Given the description of an element on the screen output the (x, y) to click on. 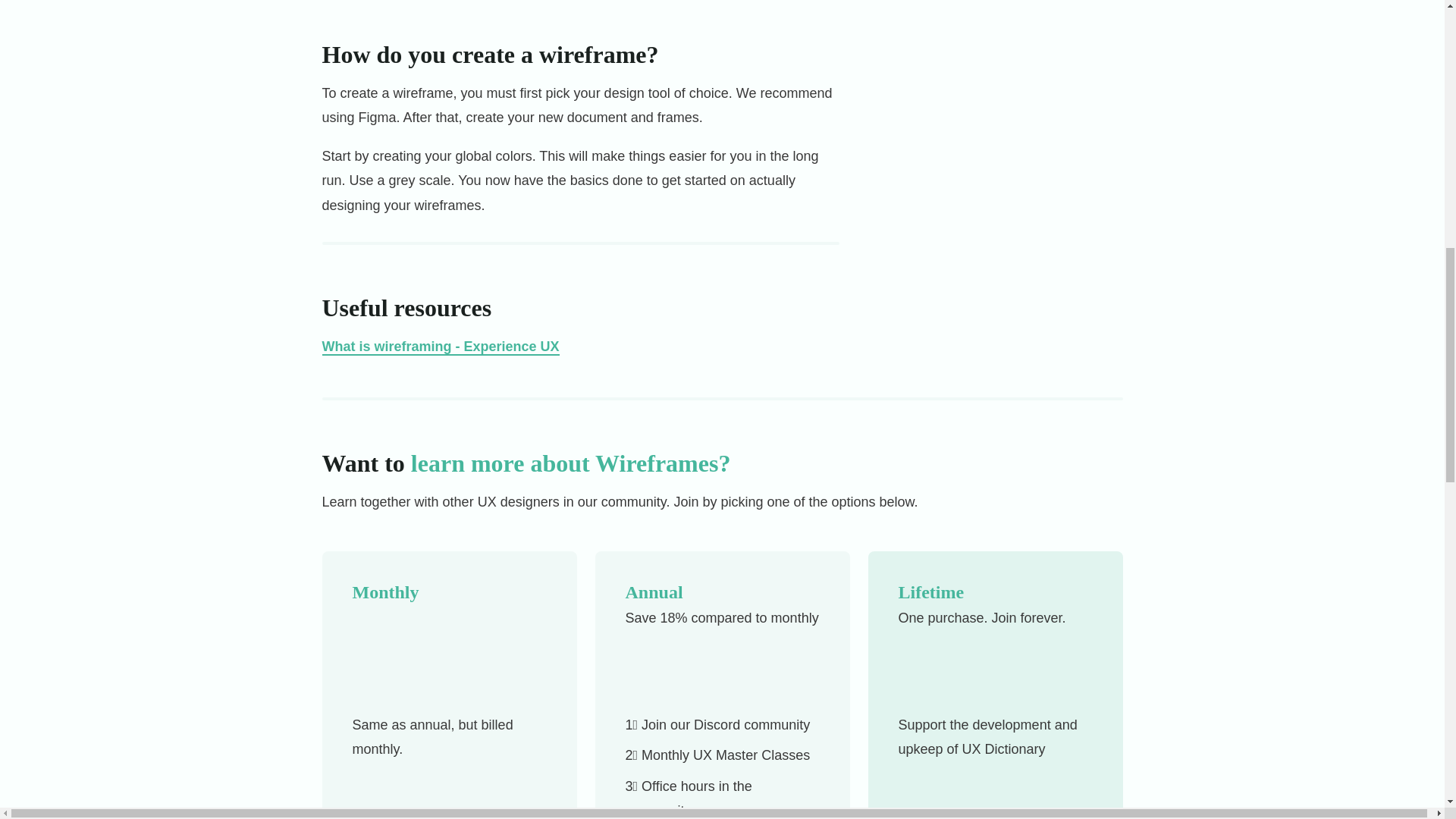
What is wireframing - Experience UX (440, 347)
What is wireframing (440, 347)
